Given the description of an element on the screen output the (x, y) to click on. 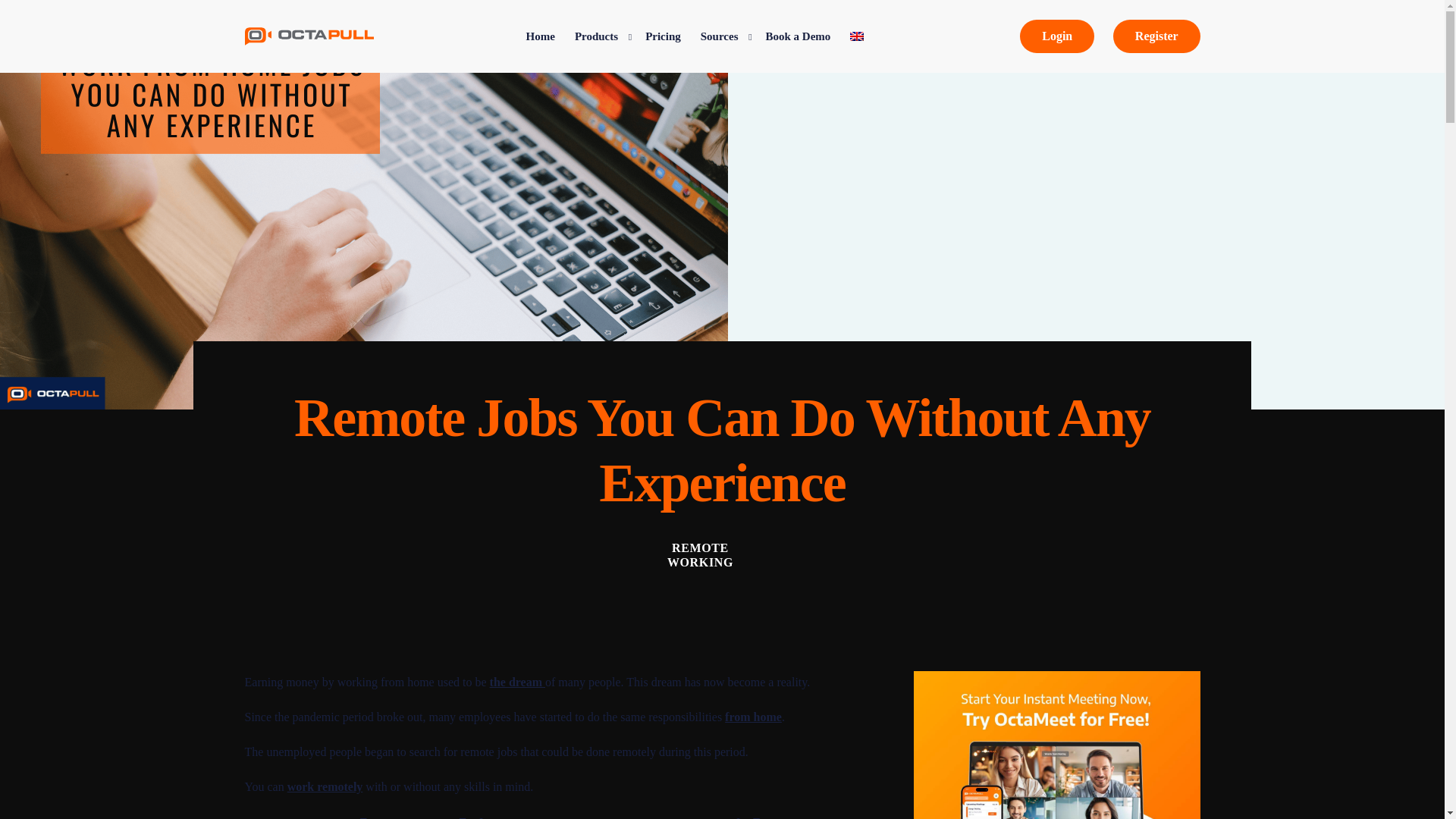
REMOTE WORKING (700, 554)
Login (1057, 36)
Register (1156, 36)
Sources (722, 36)
Book a Demo (798, 36)
work remotely (324, 786)
from home (753, 716)
Products (599, 36)
the dream (516, 681)
